Given the description of an element on the screen output the (x, y) to click on. 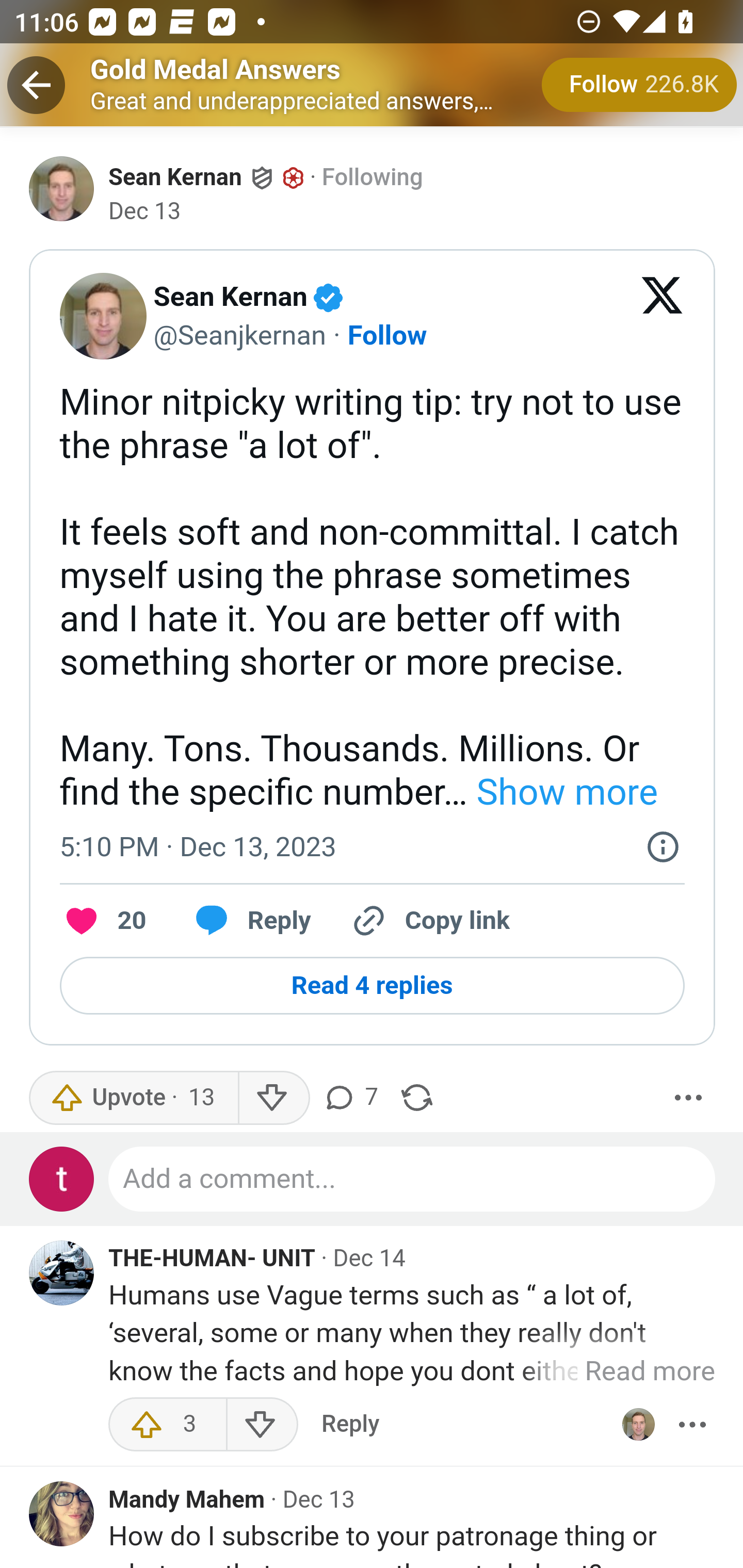
Gold Medal Answers (215, 68)
Follow 226.8K (639, 85)
Profile photo for Sean Kernan (61, 188)
Sean Kernan Sean Kernan     Space subscriber (206, 176)
Space subscriber (292, 177)
View on X (662, 315)
@Seanjkernan (238, 334)
Follow (386, 334)
 Show more   Show more (562, 791)
X Ads info and privacy (662, 846)
5:10 PM · Dec 13, 2023 (197, 846)
Like. This post has 20 likes 20 (102, 921)
Reply to this post on X Reply (246, 921)
Copy link (428, 921)
Read 4 replies (371, 986)
Upvote (133, 1097)
Downvote (273, 1097)
7 comments (353, 1097)
Share (416, 1097)
More (688, 1097)
Profile photo for Test Appium (61, 1178)
Add a comment... (412, 1178)
Profile photo for THE-HUMAN- UNIT (61, 1272)
THE-HUMAN- UNIT (211, 1258)
3 upvotes (167, 1425)
Downvote (261, 1425)
Reply (350, 1425)
Profile photo for Sean Kernan (638, 1425)
More (691, 1425)
Profile photo for Mandy Mahem (61, 1513)
Mandy Mahem (186, 1499)
